Given the description of an element on the screen output the (x, y) to click on. 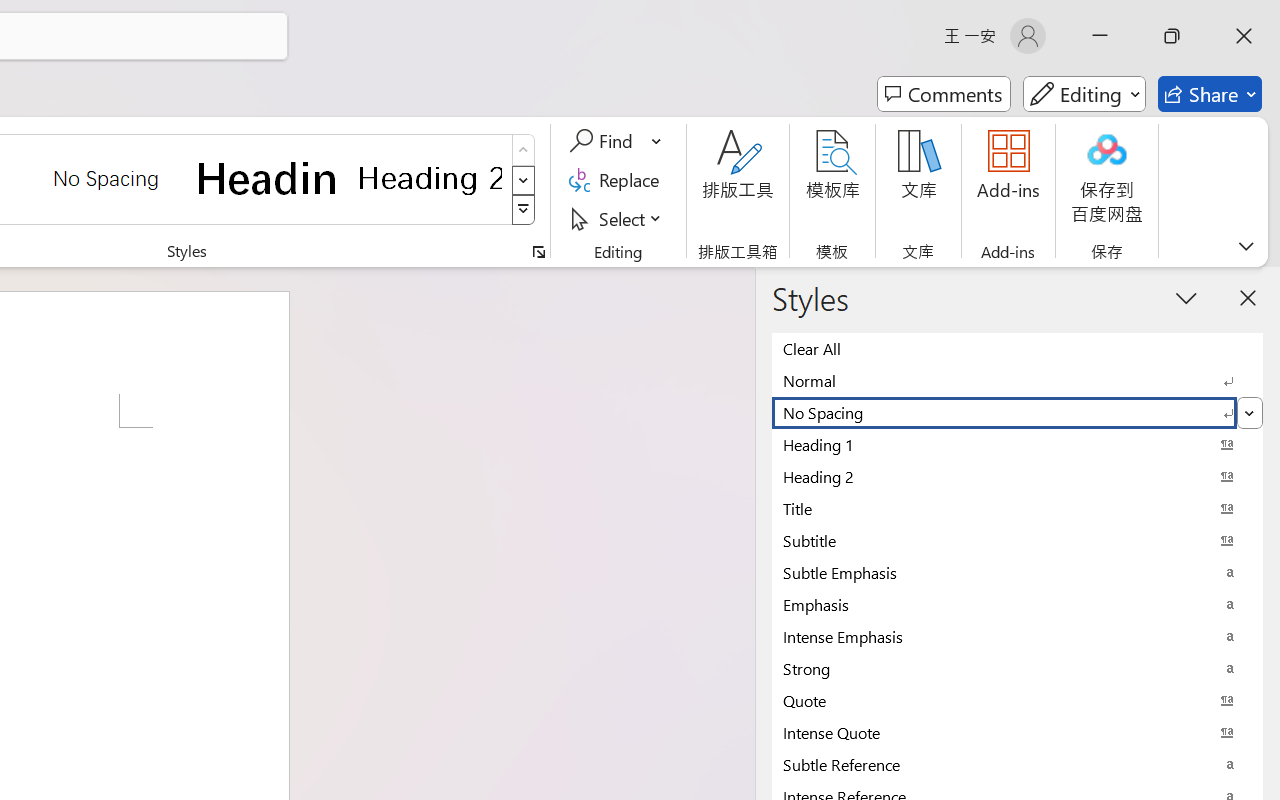
Row Down (523, 180)
Clear All (1017, 348)
Select (618, 218)
Subtle Reference (1017, 764)
